Given the description of an element on the screen output the (x, y) to click on. 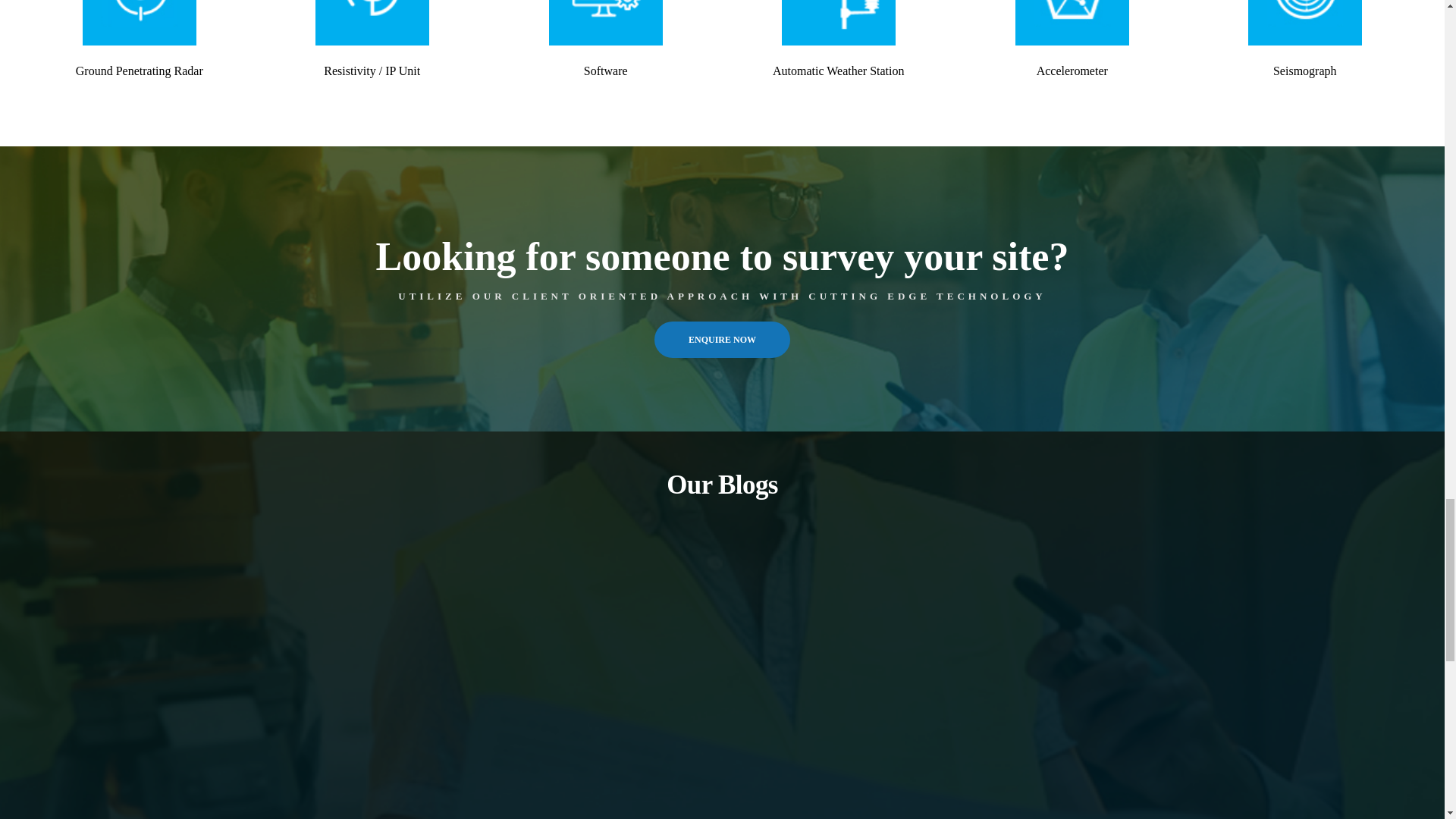
ENQUIRE NOW (721, 339)
